Given the description of an element on the screen output the (x, y) to click on. 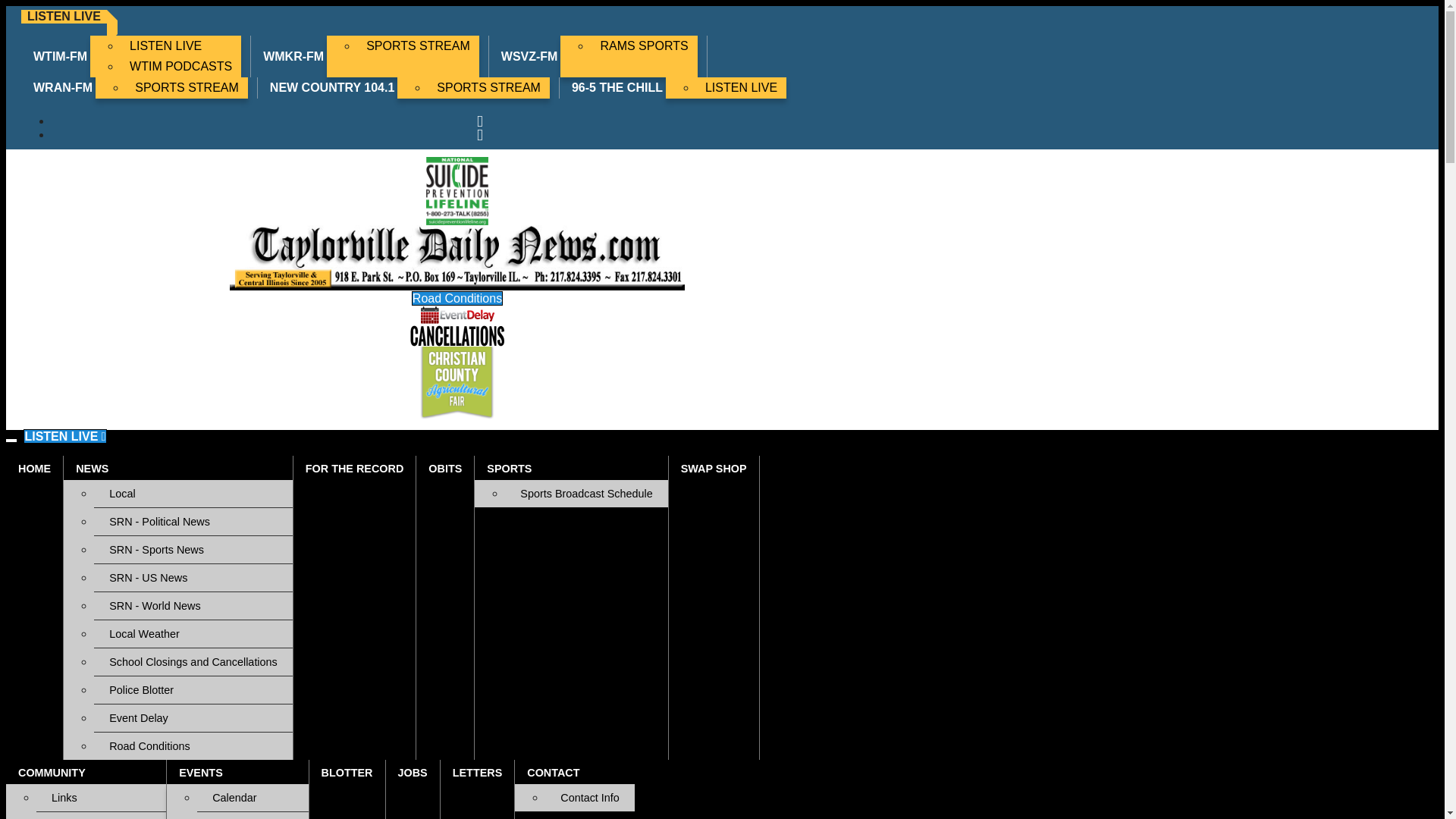
School Closings and Cancellations (193, 661)
Local (193, 492)
Road Conditions (457, 298)
Police Blotter (193, 689)
Event Delay (193, 718)
WRAN-FM (63, 87)
Local Weather (193, 633)
Road Conditions (193, 746)
SRN - Political News (193, 521)
LISTEN LIVE (740, 87)
